Given the description of an element on the screen output the (x, y) to click on. 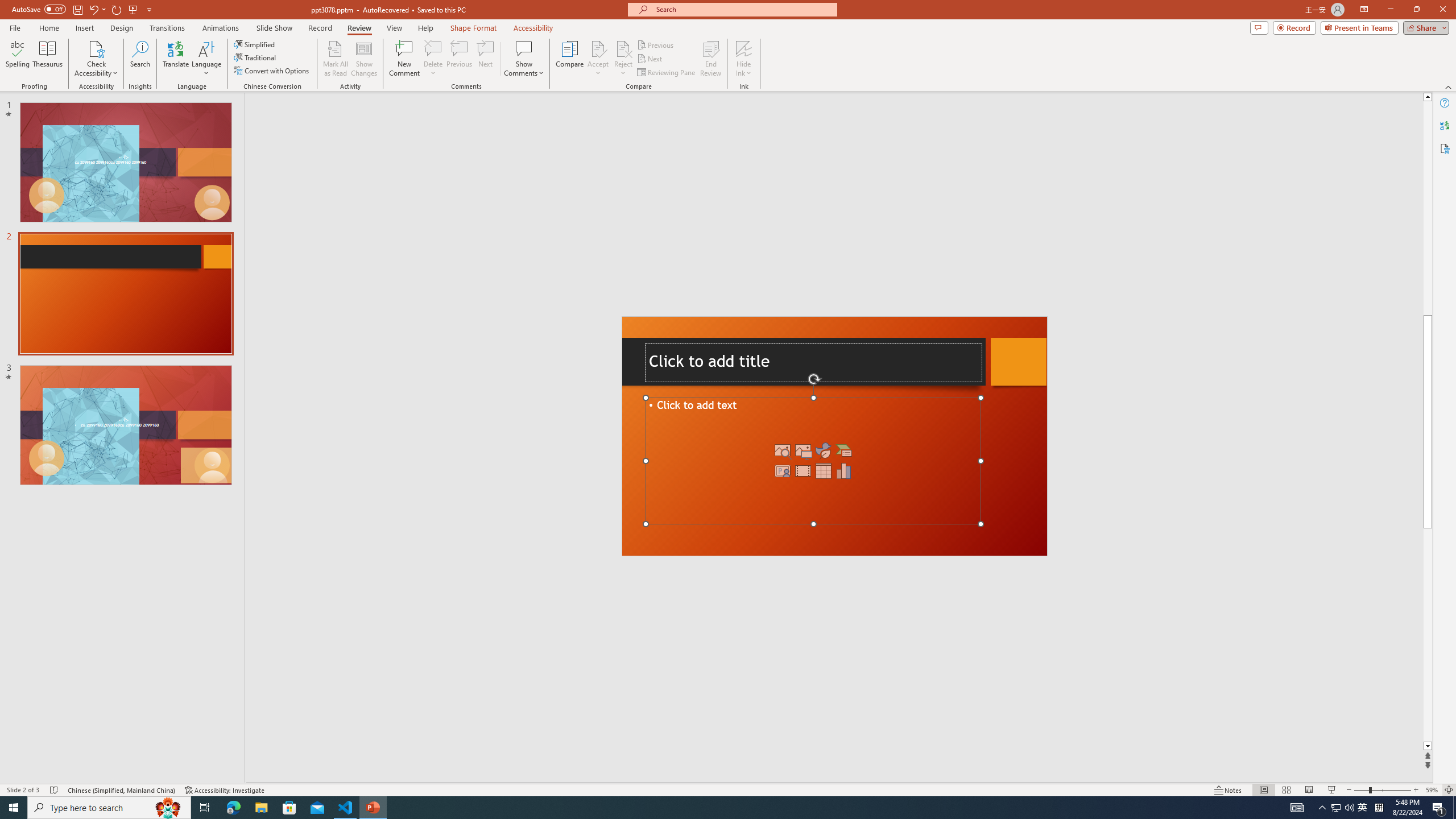
Fit slide to current window. (1410, 771)
